Given the description of an element on the screen output the (x, y) to click on. 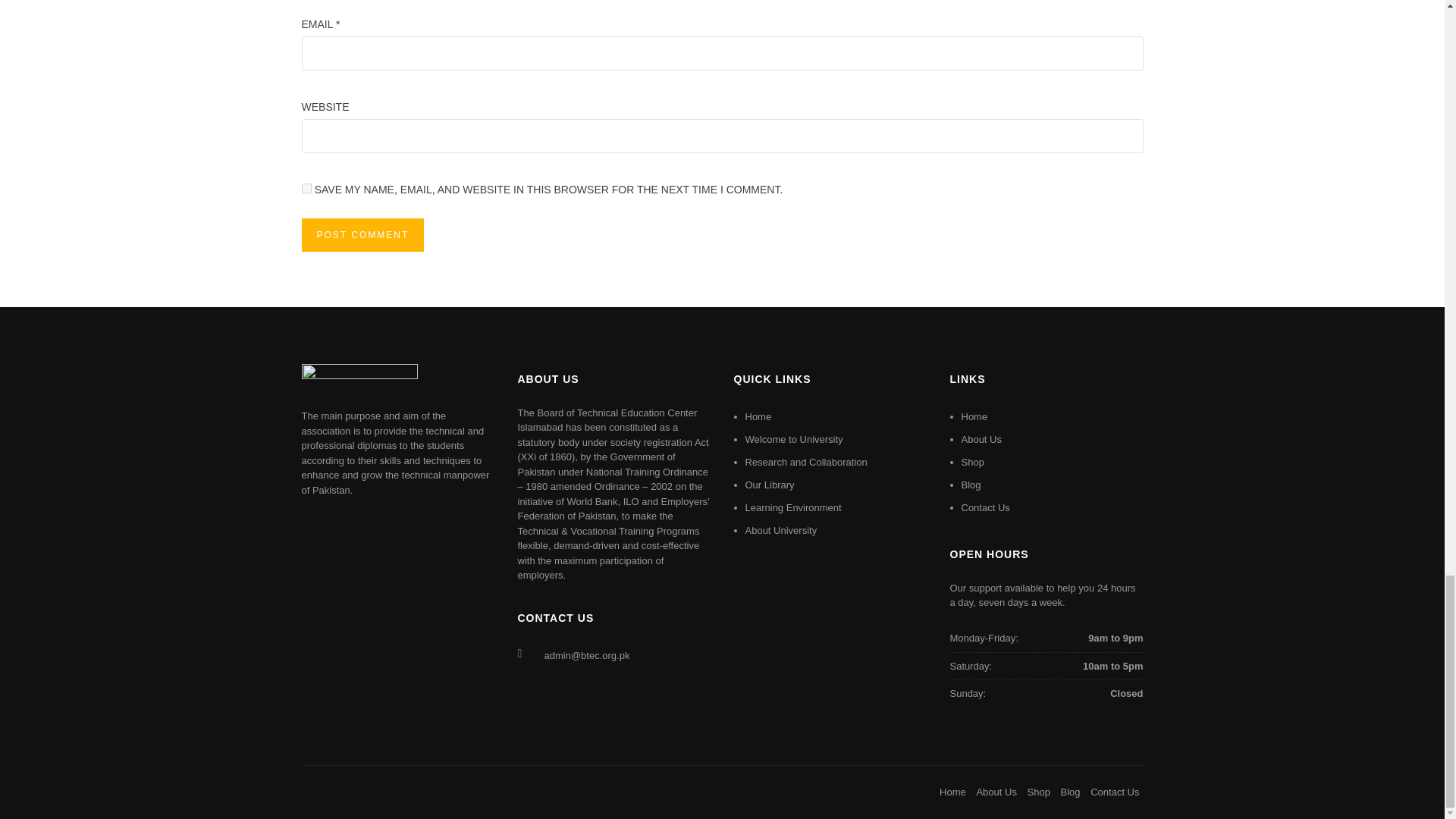
yes (306, 188)
Welcome to University (793, 439)
Home (974, 416)
Home (952, 791)
Blog (970, 484)
Contact Us (985, 507)
Home (757, 416)
Research and Collaboration (805, 461)
Our Library (768, 484)
Shop (972, 461)
